Given the description of an element on the screen output the (x, y) to click on. 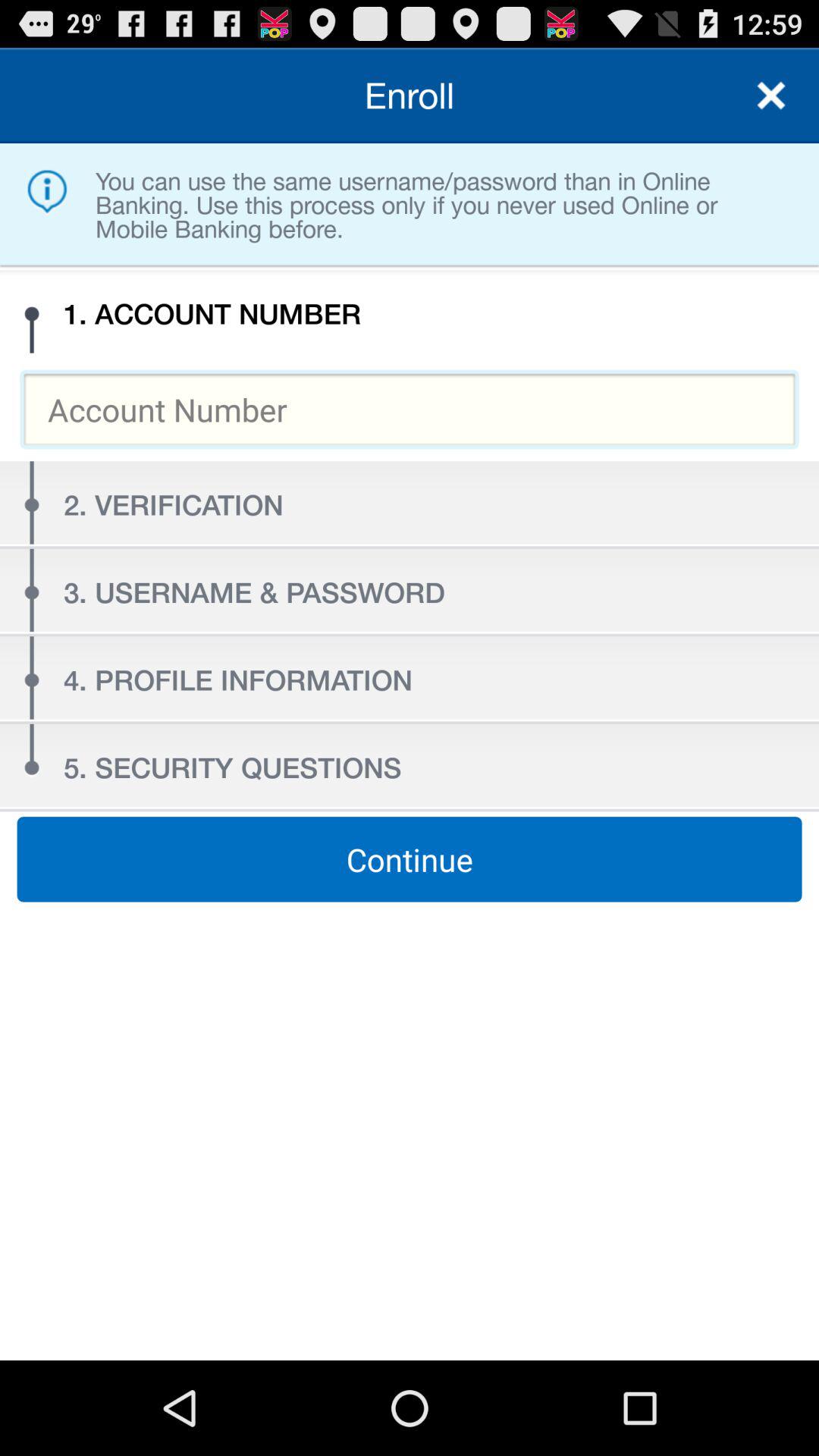
click the icon above you can use (409, 95)
